Given the description of an element on the screen output the (x, y) to click on. 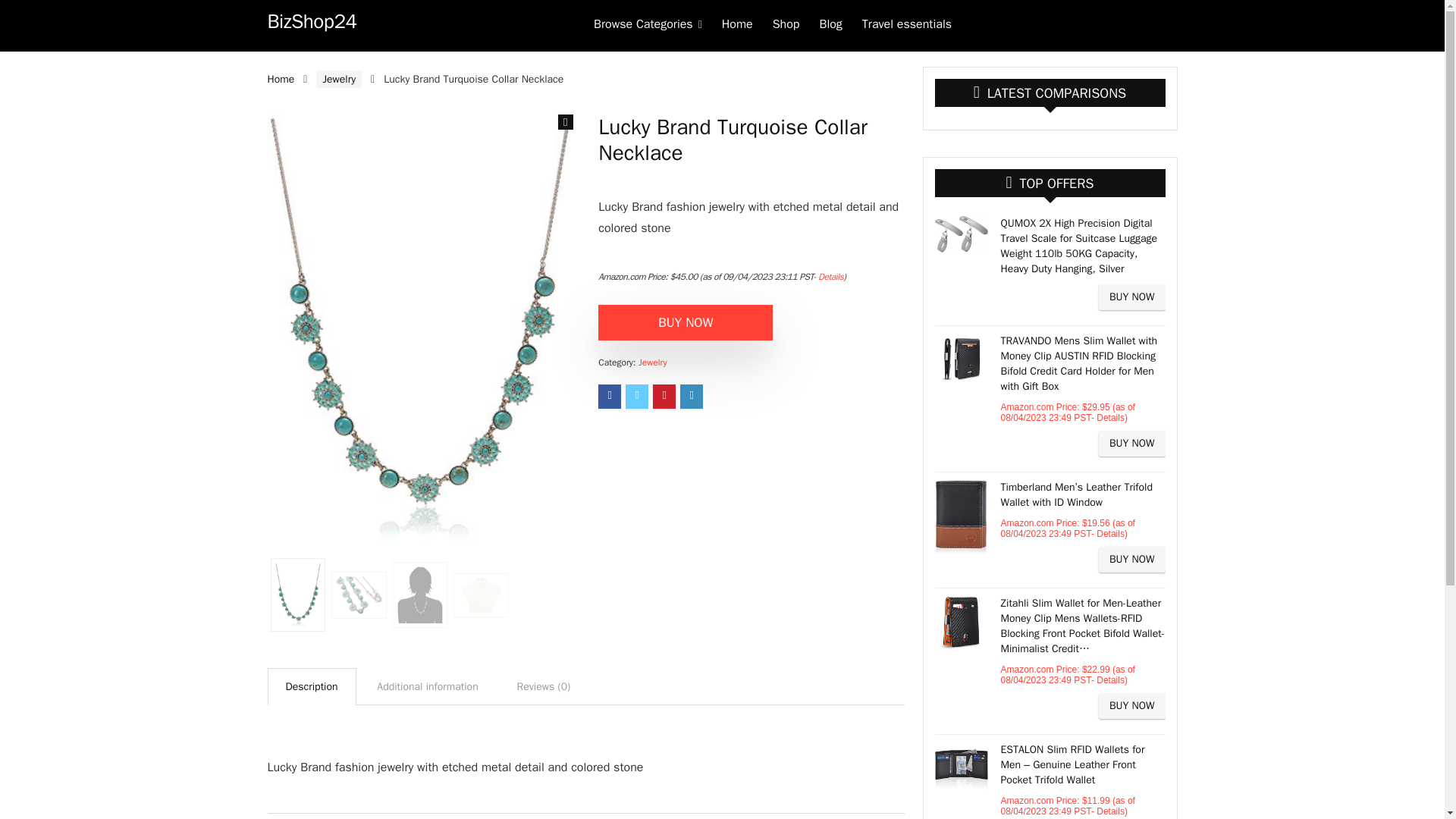
Blog (830, 25)
Home (736, 25)
Travel essentials (905, 25)
Browse Categories (647, 25)
Shop (785, 25)
